Given the description of an element on the screen output the (x, y) to click on. 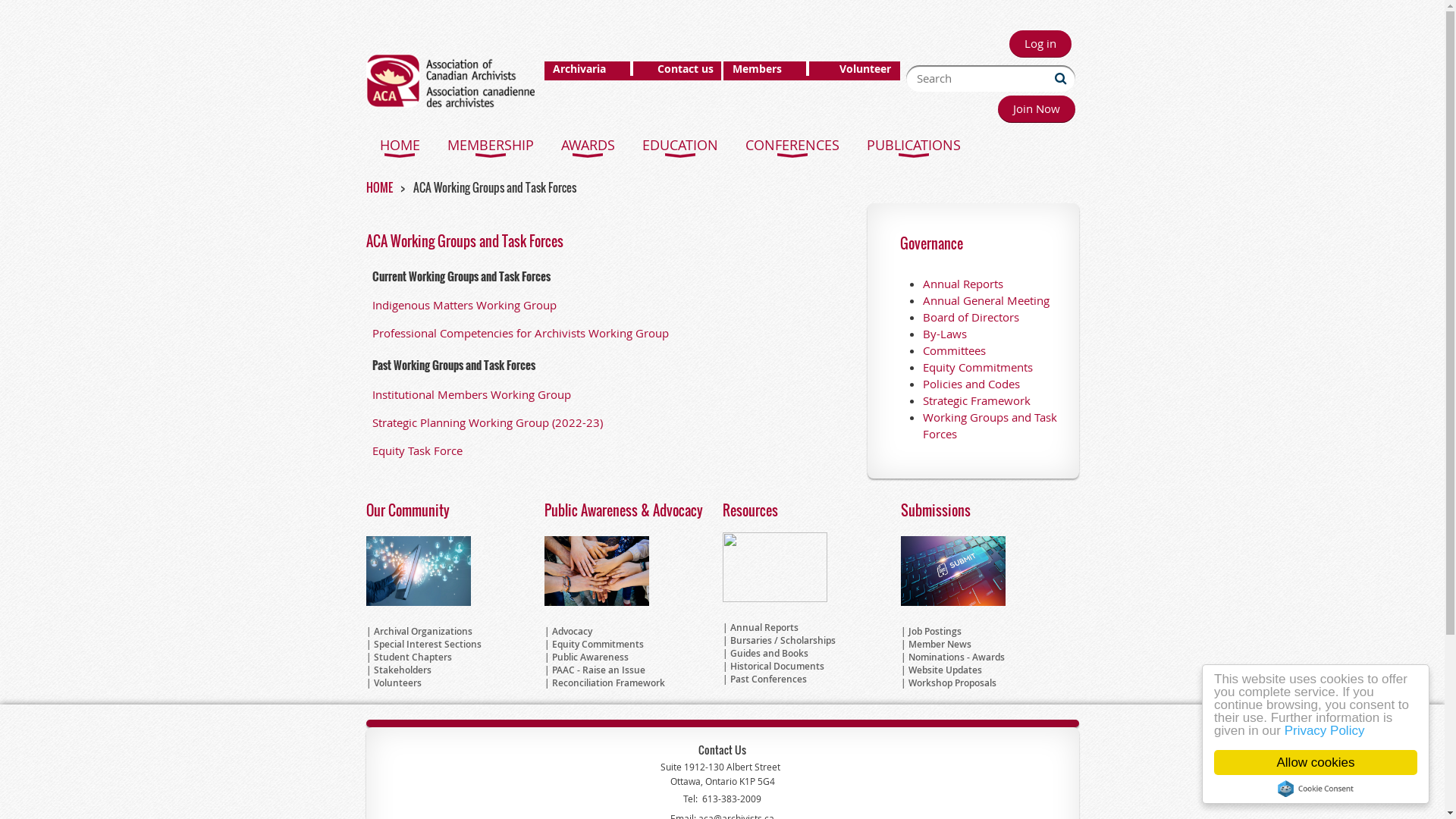
Governanc Element type: text (927, 243)
Strategic Framework Element type: text (975, 399)
Privacy Policy Element type: text (1324, 730)
Reconciliation Framework Element type: text (608, 682)
Guides and Books Element type: text (768, 652)
Workshop Proposals Element type: text (952, 682)
Policies and Codes Element type: text (970, 383)
PUBLICATIONS Element type: text (912, 142)
Board of Directors Element type: text (970, 316)
Volunteer Element type: text (865, 68)
Special Interest Sections Element type: text (426, 643)
Equity Commitments Element type: text (977, 366)
Archivaria  Element type: text (580, 68)
HOME Element type: text (378, 186)
Working Groups and Task Forces Element type: text (989, 425)
Equity Commitments Element type: text (597, 643)
Log in Element type: text (1039, 43)
Bursaries / Scholarships Element type: text (781, 639)
PAAC - Raise an Issue Element type: text (598, 669)
Contact us Element type: text (685, 68)
Professional Competencies for Archivists Working Group Element type: text (519, 332)
By-Laws Element type: text (944, 333)
Job Postings Element type: text (934, 630)
Volunteers Element type: text (396, 682)
Advocacy Element type: text (572, 630)
CONFERENCES Element type: text (791, 142)
EDUCATION Element type: text (679, 142)
Stakeholders Element type: text (401, 669)
Annual Reports Element type: text (962, 283)
Allow cookies Element type: text (1315, 762)
Public Awareness Element type: text (590, 656)
AWARDS Element type: text (587, 142)
Student Chapters Element type: text (412, 656)
Annual Reports Element type: text (763, 627)
Historical Documents Element type: text (776, 665)
Website Updates Element type: text (945, 669)
Member News Element type: text (939, 643)
Past Conferences Element type: text (767, 678)
Join Now Element type: text (1036, 108)
Committees Element type: text (953, 349)
Equity Task Force Element type: text (416, 450)
HOME Element type: text (399, 142)
Members Element type: text (756, 68)
Strategic Planning Working Group (2022-23) Element type: text (486, 421)
Indigenous Matters Working Group Element type: text (463, 304)
MEMBERSHIP Element type: text (490, 142)
Institutional Members Working Group Element type: text (470, 393)
Cookie Consent plugin for the EU cookie law Element type: text (1315, 788)
Nominations - Awards Element type: text (956, 656)
Archival Organizations Element type: text (422, 630)
Annual General Meeting Element type: text (985, 299)
